Given the description of an element on the screen output the (x, y) to click on. 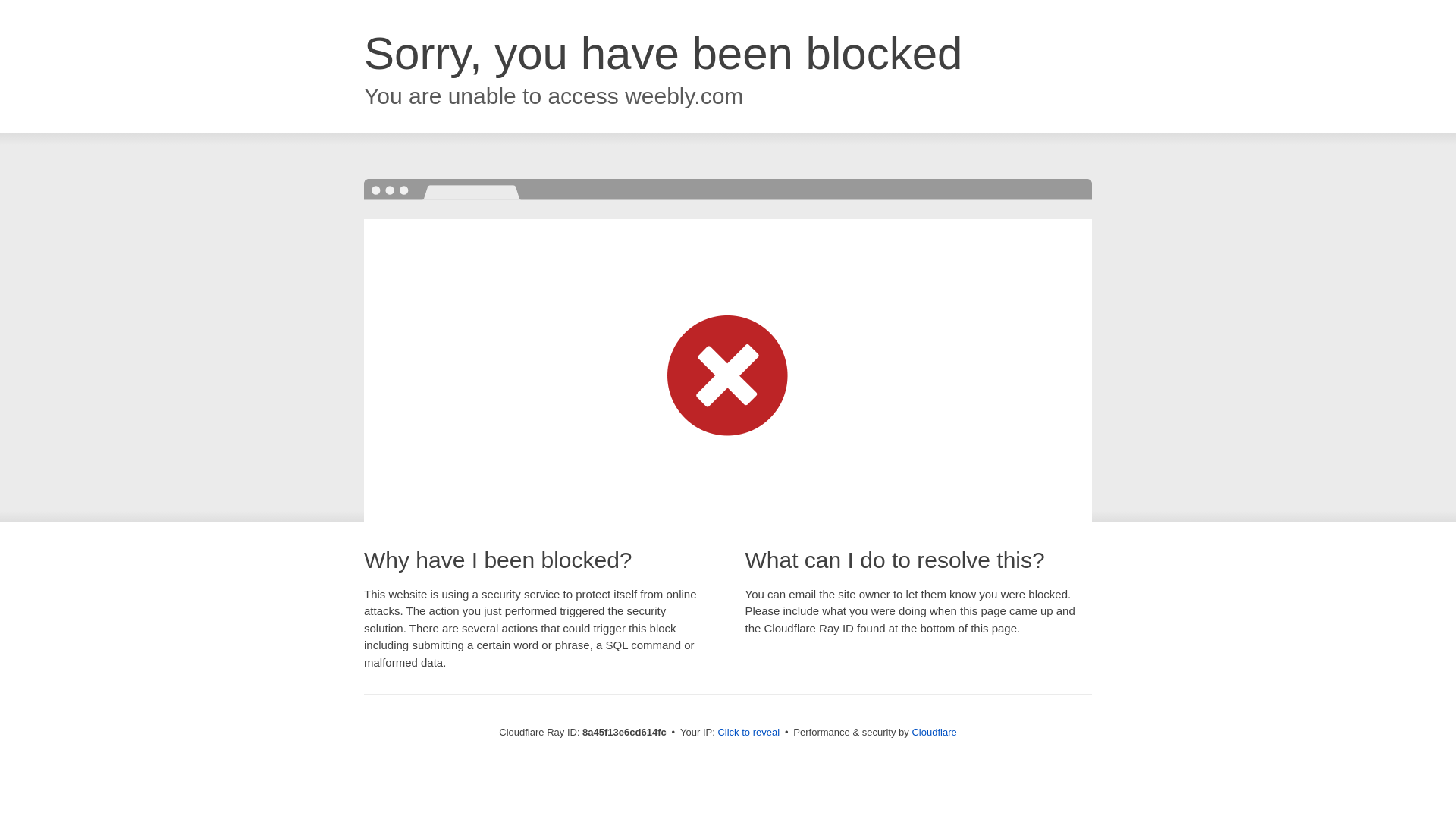
Cloudflare (933, 731)
Click to reveal (747, 732)
